Given the description of an element on the screen output the (x, y) to click on. 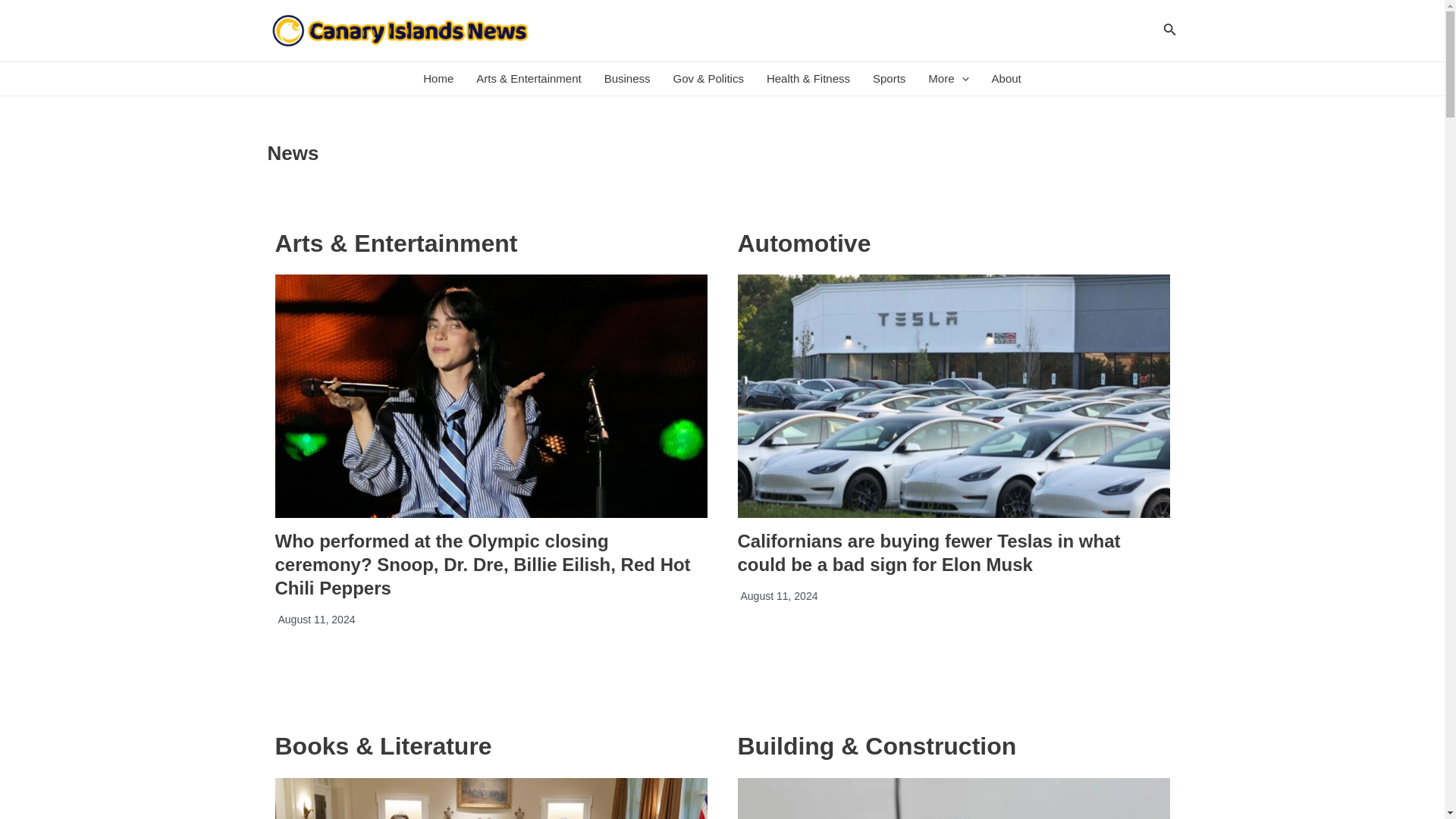
Business (627, 78)
About (1005, 78)
Home (438, 78)
Sports (889, 78)
More (948, 78)
